Given the description of an element on the screen output the (x, y) to click on. 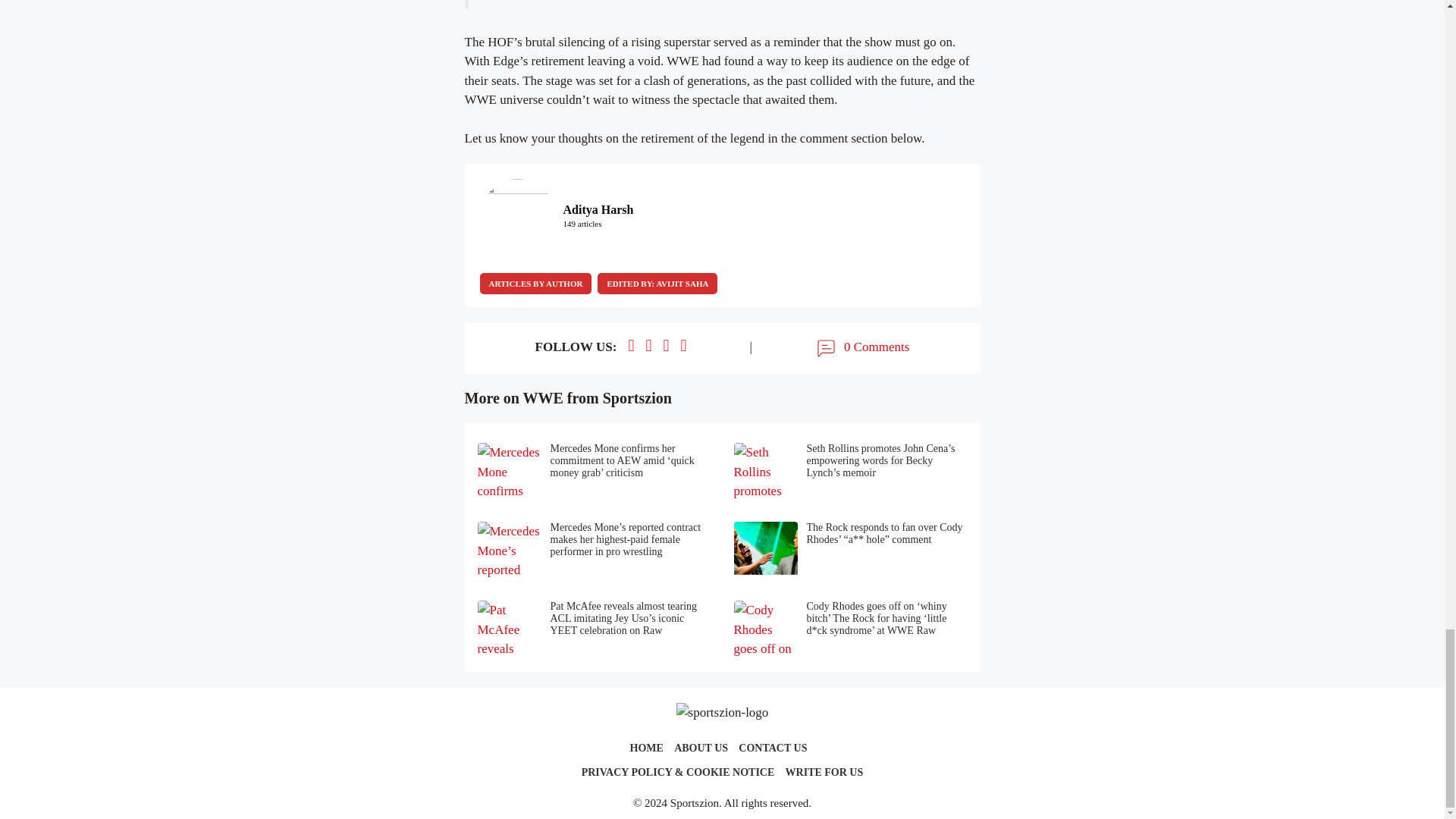
EDITED BY: AVIJIT SAHA (656, 283)
0 Comments (861, 347)
ARTICLES BY AUTHOR (535, 283)
